Given the description of an element on the screen output the (x, y) to click on. 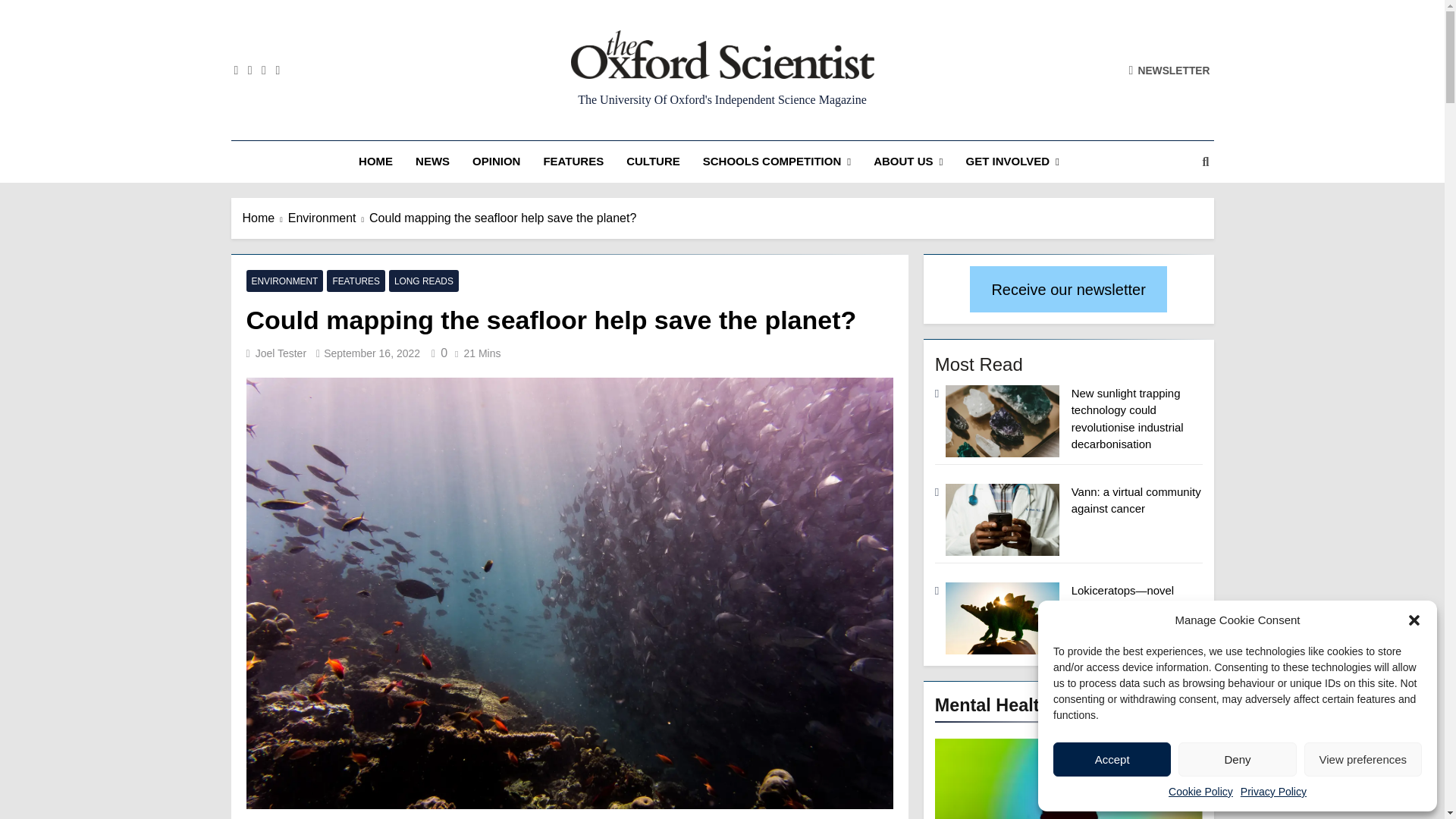
Cookie Policy (1201, 791)
SCHOOLS COMPETITION (776, 161)
NEWS (432, 160)
FEATURES (572, 160)
NEWSLETTER (1169, 69)
View preferences (1363, 759)
Deny (1236, 759)
The Oxford Scientist (544, 100)
HOME (375, 160)
Privacy Policy (1273, 791)
